Given the description of an element on the screen output the (x, y) to click on. 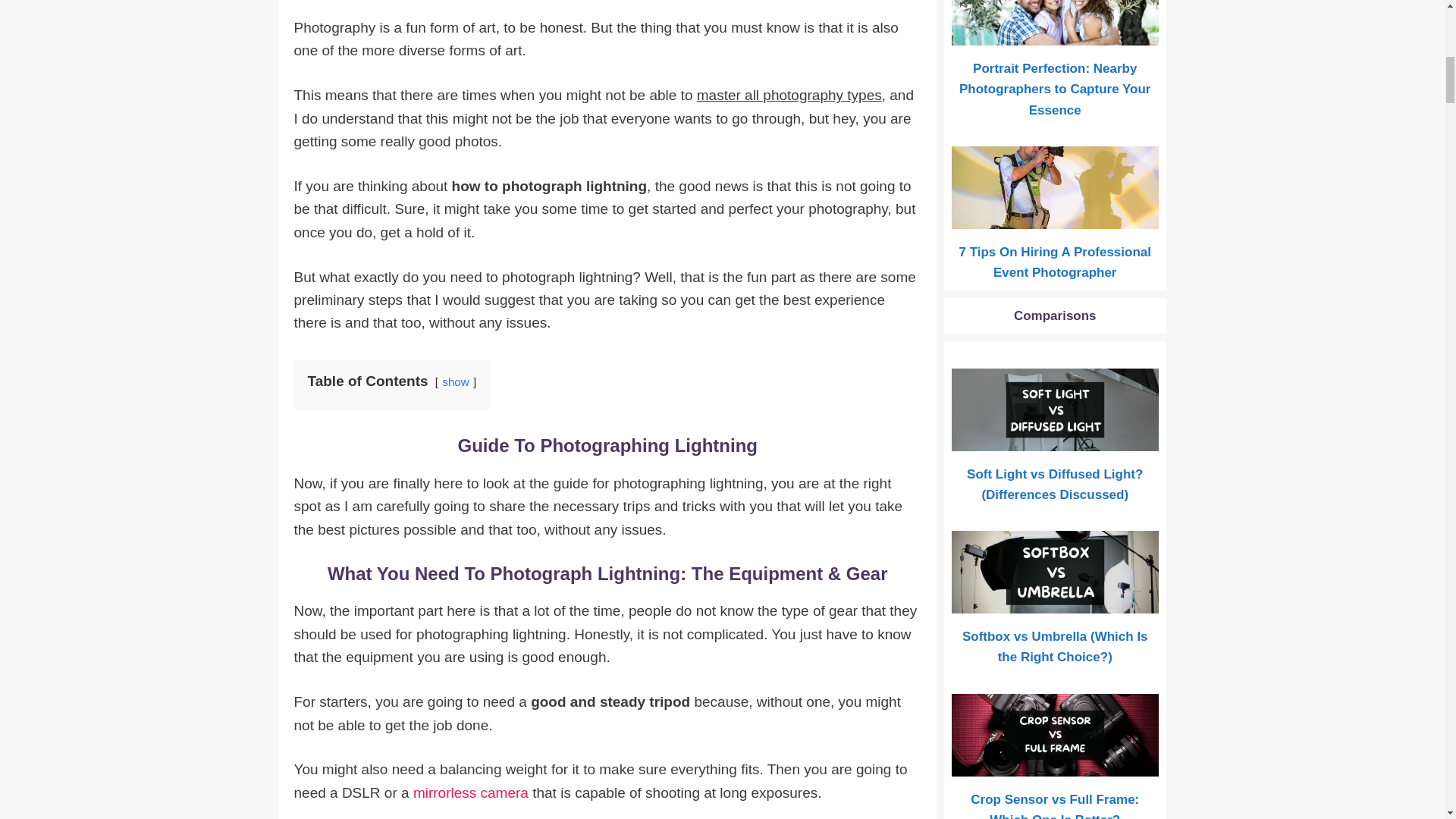
Scroll back to top (1406, 720)
7 Tips On Hiring A Professional Event Photographer (1055, 218)
Crop Sensor vs Full Frame: Which One Is Better? (1055, 765)
